Given the description of an element on the screen output the (x, y) to click on. 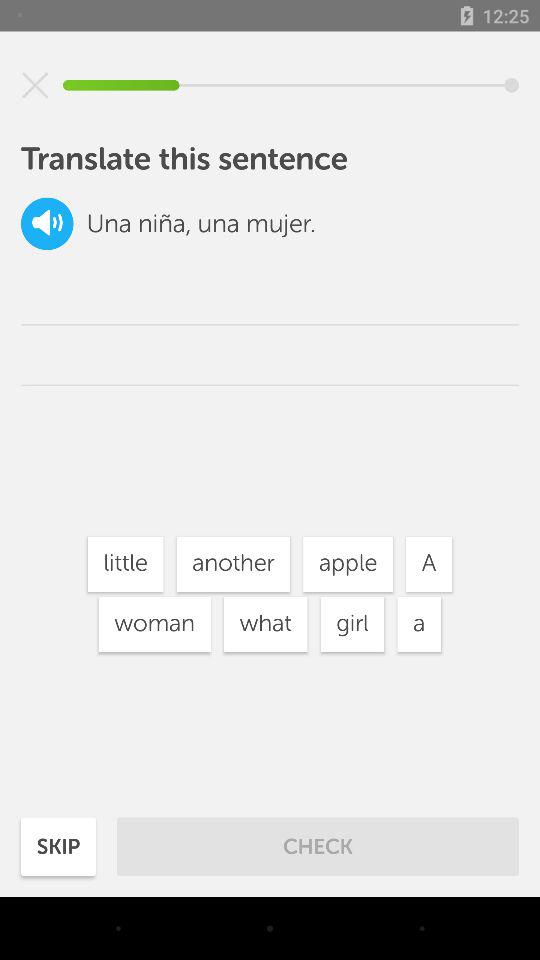
close the application (35, 85)
